Given the description of an element on the screen output the (x, y) to click on. 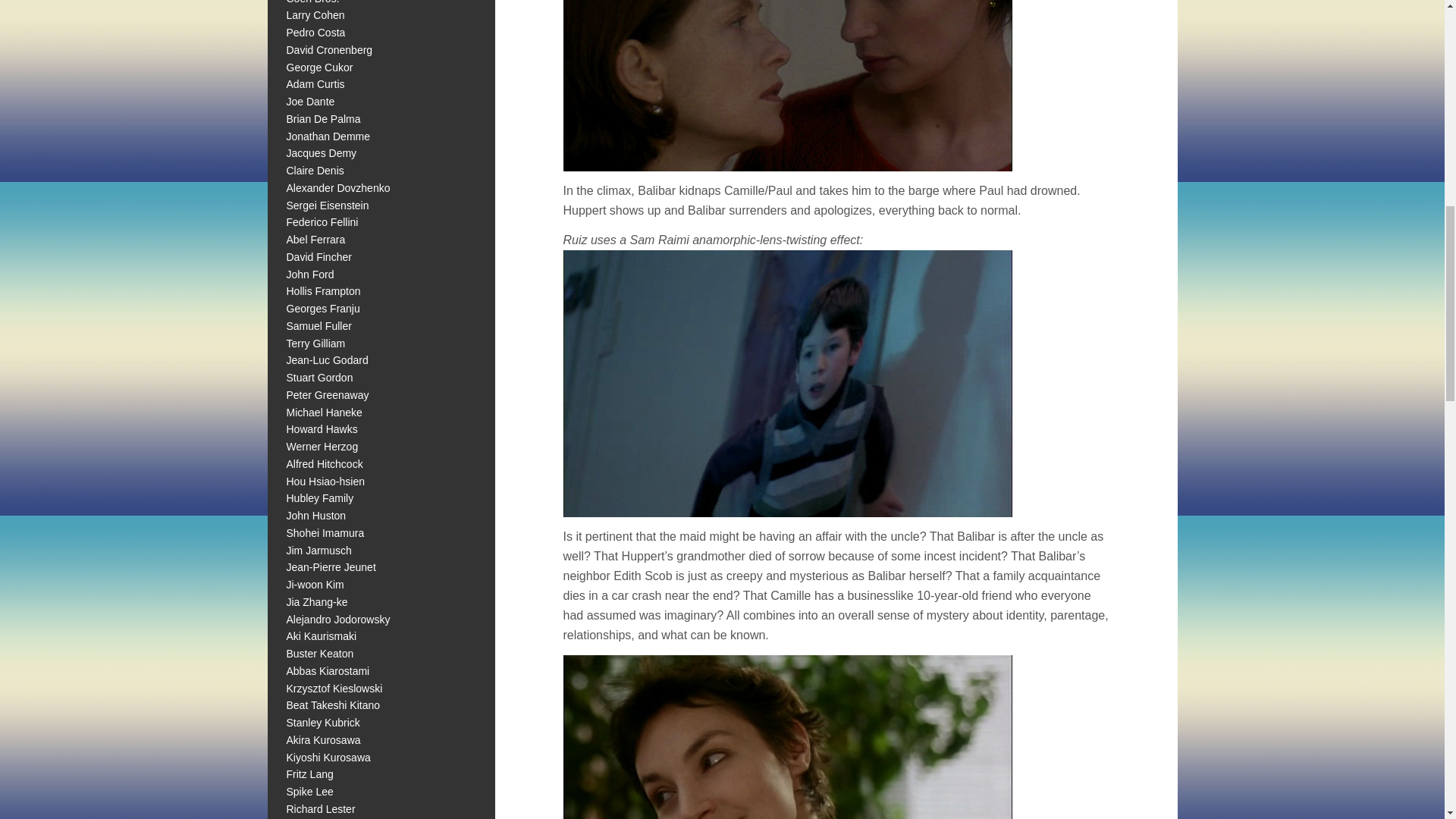
Pedro Costa (316, 32)
Alexander Dovzhenko (338, 187)
Federico Fellini (322, 222)
Jonathan Demme (328, 136)
Brian De Palma (323, 119)
Joe Dante (310, 101)
Jacques Demy (321, 152)
George Cukor (319, 66)
Adam Curtis (315, 83)
David Cronenberg (329, 50)
Sergei Eisenstein (327, 204)
Claire Denis (314, 170)
Coen Bros. (312, 2)
Larry Cohen (315, 15)
